Given the description of an element on the screen output the (x, y) to click on. 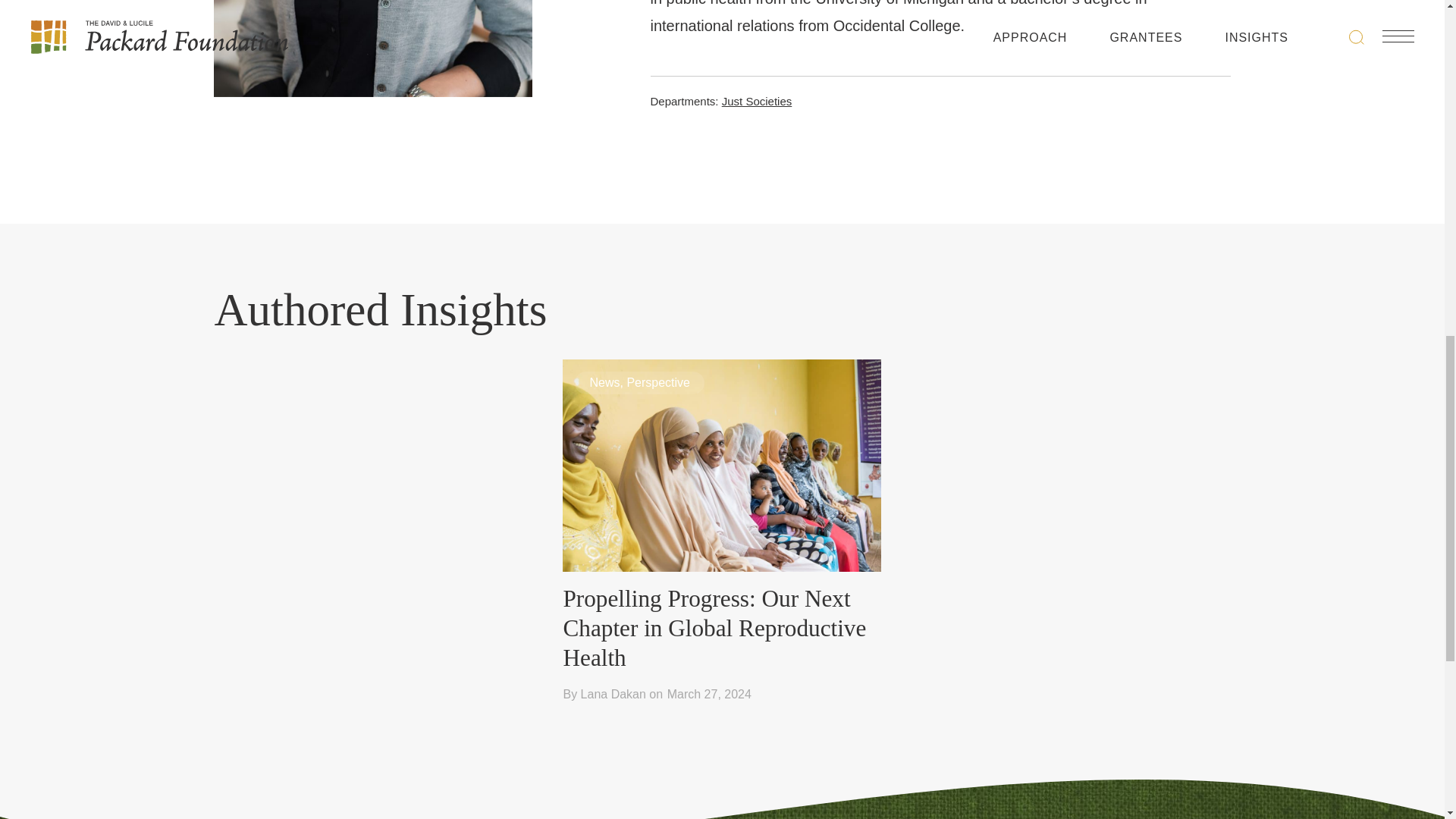
Just Societies (757, 101)
